Given the description of an element on the screen output the (x, y) to click on. 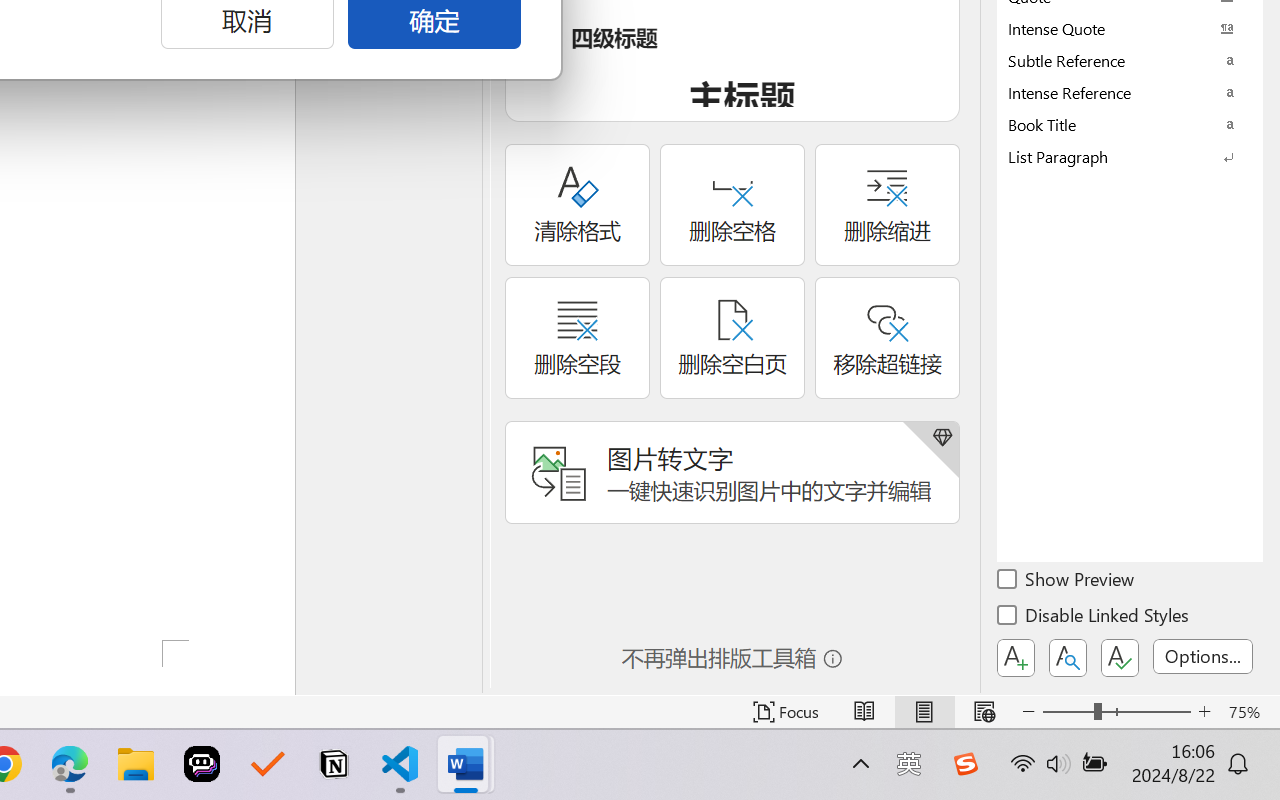
Intense Reference (1130, 92)
Print Layout (924, 712)
Options... (1203, 656)
List Paragraph (1130, 156)
Web Layout (984, 712)
Class: Image (965, 764)
